Given the description of an element on the screen output the (x, y) to click on. 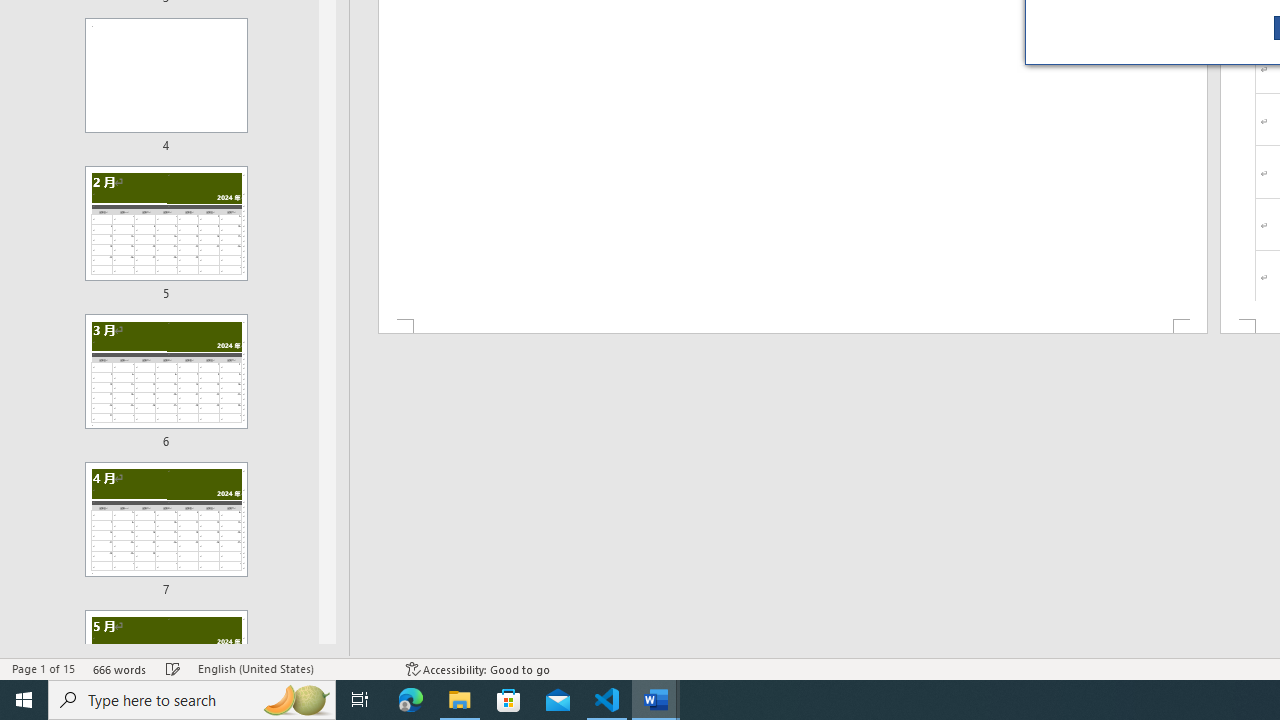
Word - 2 running windows (656, 699)
Microsoft Edge (411, 699)
Page Number Page 1 of 15 (43, 668)
Footer -Section 1- (792, 326)
Microsoft Store (509, 699)
Language English (United States) (292, 668)
Word Count 666 words (119, 668)
Spelling and Grammar Check Checking (173, 668)
Type here to search (191, 699)
Task View (359, 699)
File Explorer - 1 running window (460, 699)
Visual Studio Code - 1 running window (607, 699)
Search highlights icon opens search home window (295, 699)
Accessibility Checker Accessibility: Good to go (478, 668)
